Given the description of an element on the screen output the (x, y) to click on. 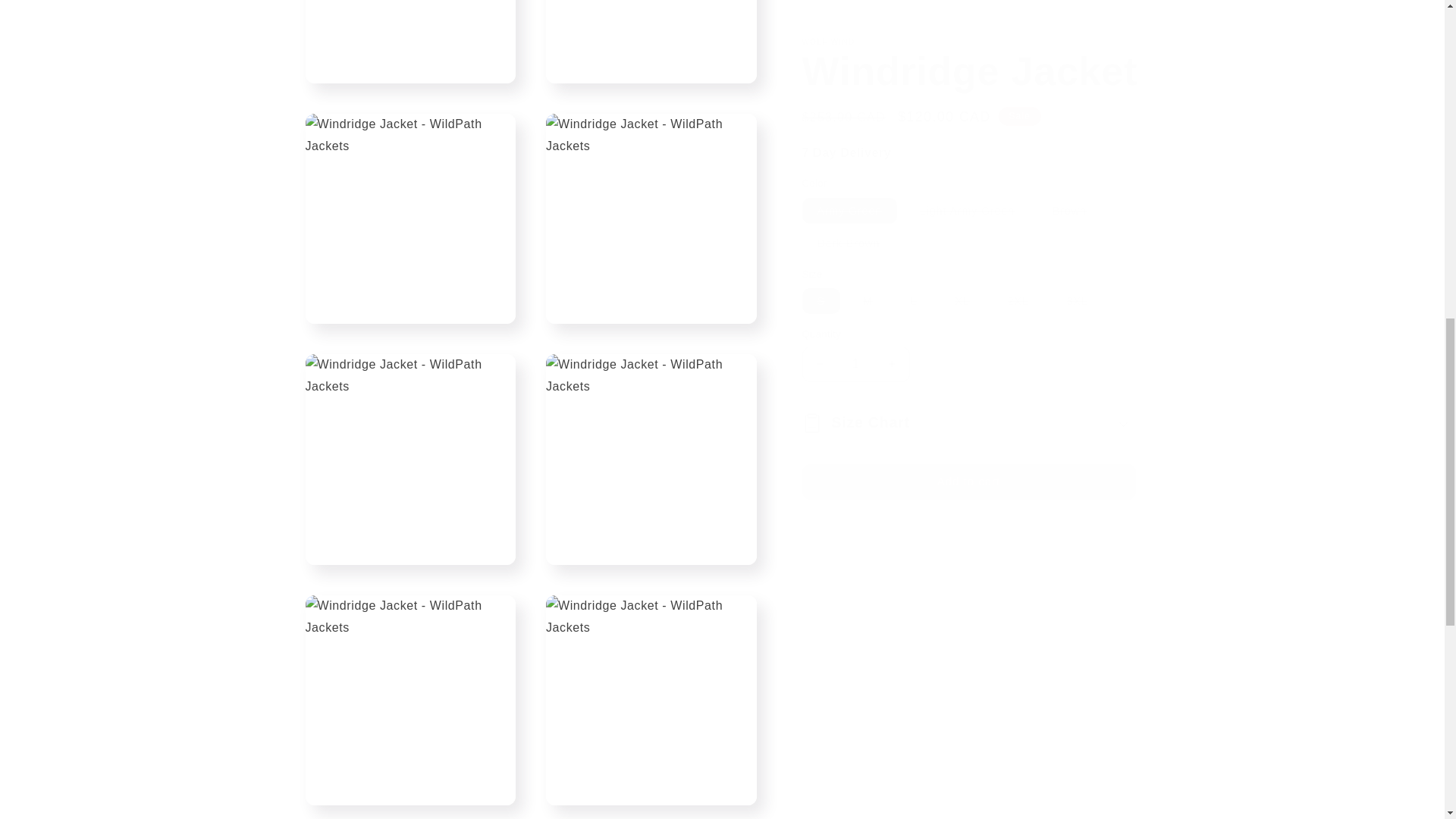
Open media 8 in modal (409, 685)
Open media 7 in modal (651, 444)
Open media 5 in modal (651, 203)
Open media 3 in modal (651, 33)
Open media 6 in modal (409, 444)
Open media 2 in modal (409, 33)
Open media 4 in modal (409, 203)
Open media 9 in modal (651, 685)
